Given the description of an element on the screen output the (x, y) to click on. 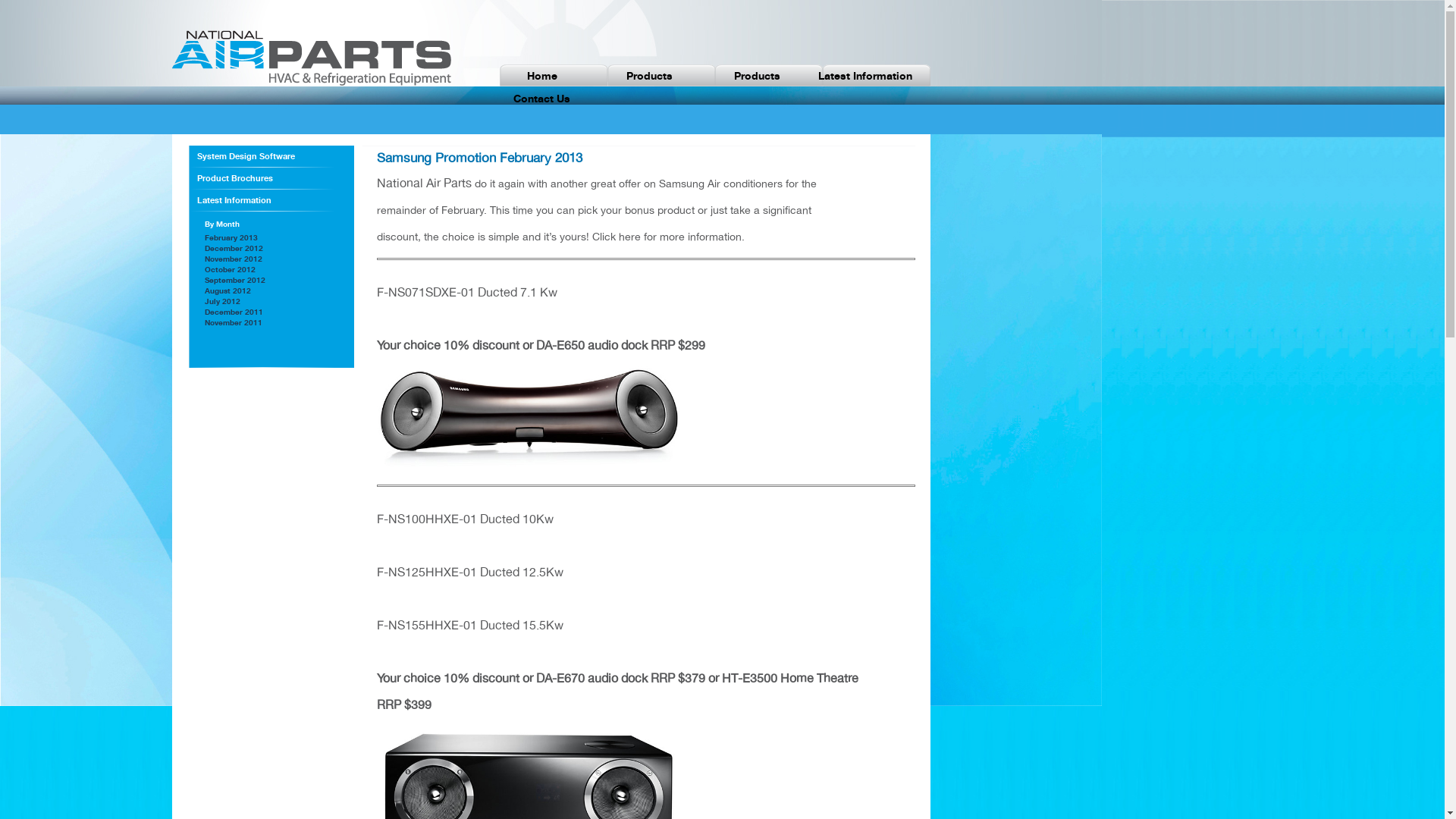
July 2012 Element type: text (222, 300)
Contact Us Element type: text (542, 98)
Product Brochures Element type: text (271, 177)
November 2012 Element type: text (233, 258)
Home Element type: text (542, 75)
November 2011 Element type: text (233, 321)
Products Element type: text (757, 75)
December 2011 Element type: text (233, 311)
Products Element type: text (649, 75)
Latest Information Element type: text (271, 199)
Latest Information Element type: text (865, 75)
System Design Software Element type: text (271, 155)
December 2012 Element type: text (233, 247)
February 2013 Element type: text (230, 236)
September 2012 Element type: text (234, 279)
August 2012 Element type: text (227, 289)
October 2012 Element type: text (229, 268)
